Given the description of an element on the screen output the (x, y) to click on. 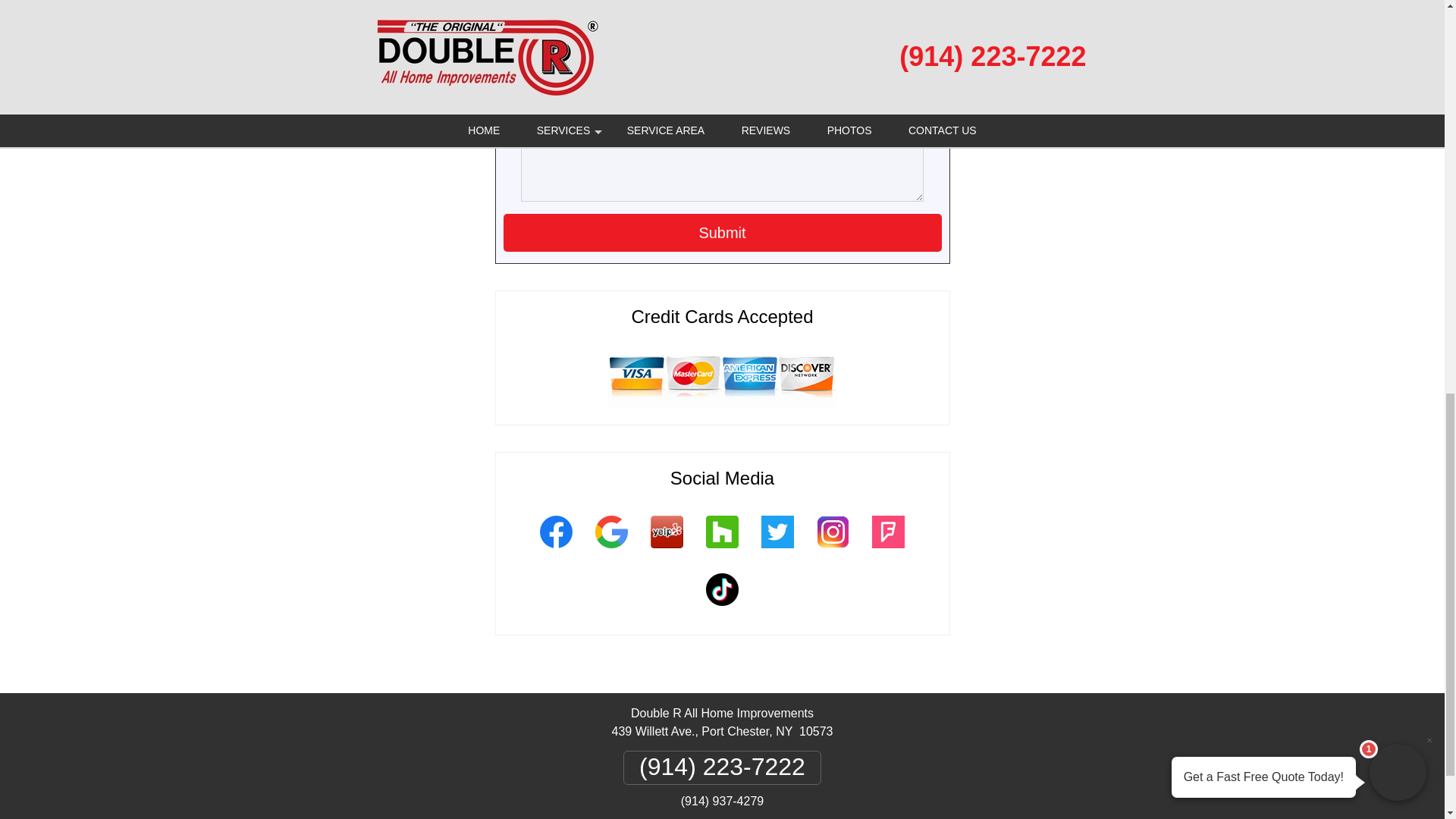
Houzz (721, 550)
Google (611, 550)
Facebook (555, 550)
Yelp (666, 550)
Instagram (832, 550)
Twitter (777, 550)
Submit (722, 232)
Foursquare (887, 550)
TikTok (721, 607)
